Given the description of an element on the screen output the (x, y) to click on. 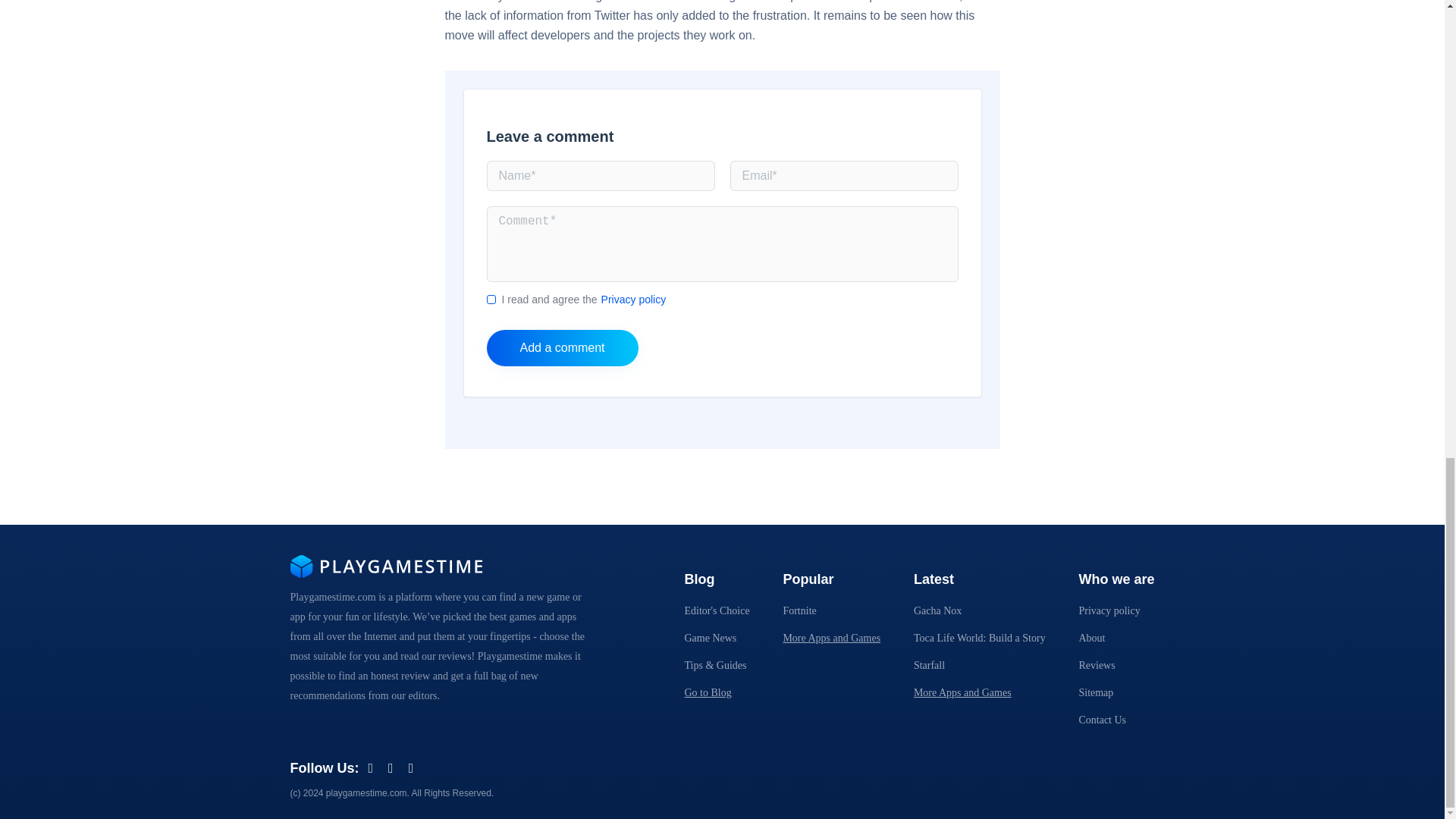
Gacha Nox (937, 610)
Add a comment (562, 348)
Starfall (929, 665)
More Apps and Games (831, 637)
Game News (710, 637)
Editor's Choice (716, 610)
logo-dark (385, 566)
logo-dark (385, 573)
Privacy policy (633, 299)
Toca Life World: Build a Story (979, 637)
Go to Blog (707, 692)
Fortnite (799, 610)
